Given the description of an element on the screen output the (x, y) to click on. 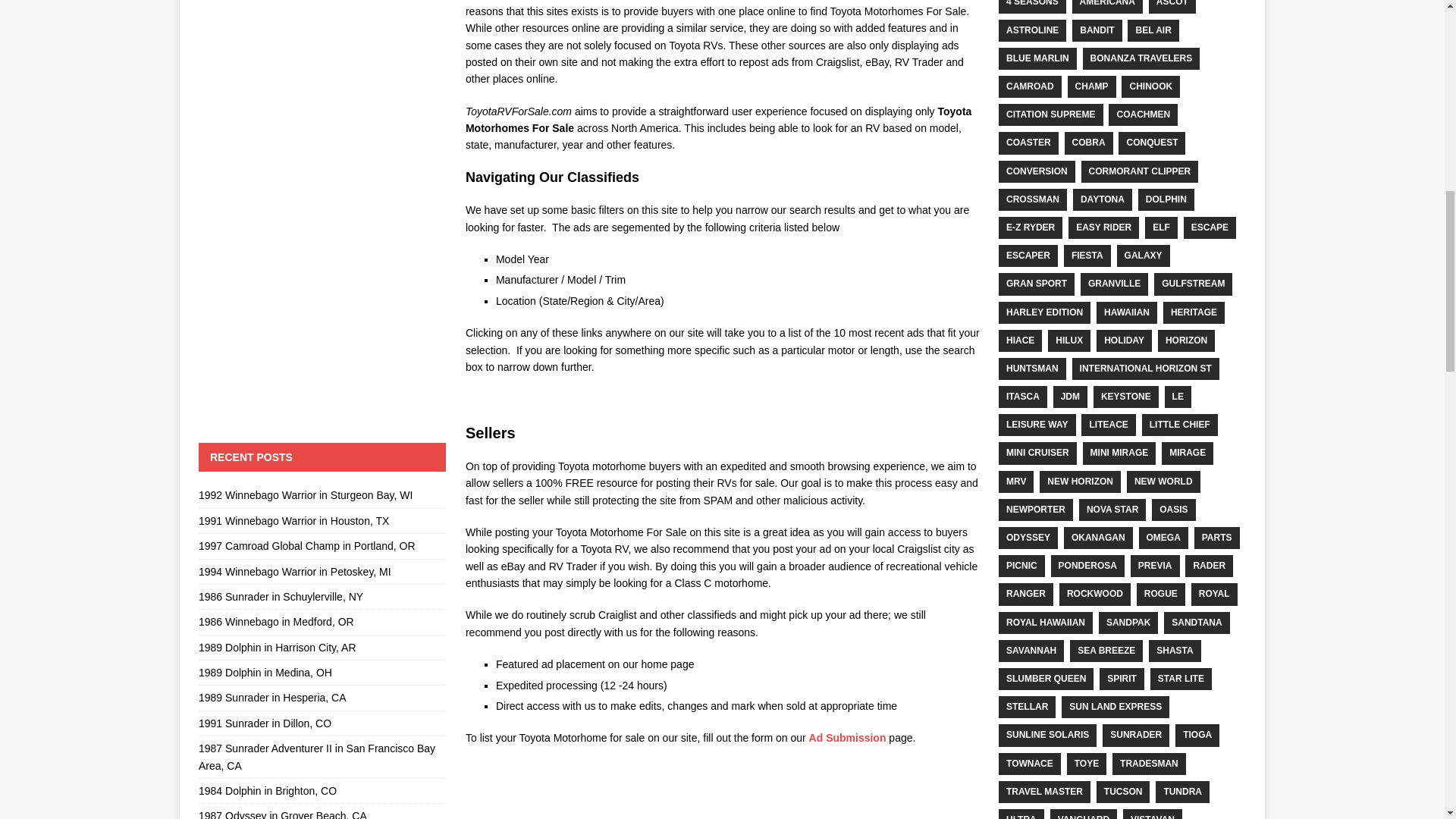
1989 Dolphin in Medina, OH (264, 672)
Ad Submission (847, 737)
1994 Winnebago Warrior in Petoskey, MI (294, 571)
1991 Sunrader in Dillon, CO (264, 723)
1989 Sunrader in Hesperia, CA (272, 697)
1986 Winnebago in Medford, OR (275, 621)
1986 Sunrader in Schuylerville, NY (280, 596)
1991 Winnebago Warrior in Houston, TX (293, 521)
1989 Dolphin in Harrison City, AR (277, 647)
1997 Camroad Global Champ in Portland, OR (306, 545)
